Given the description of an element on the screen output the (x, y) to click on. 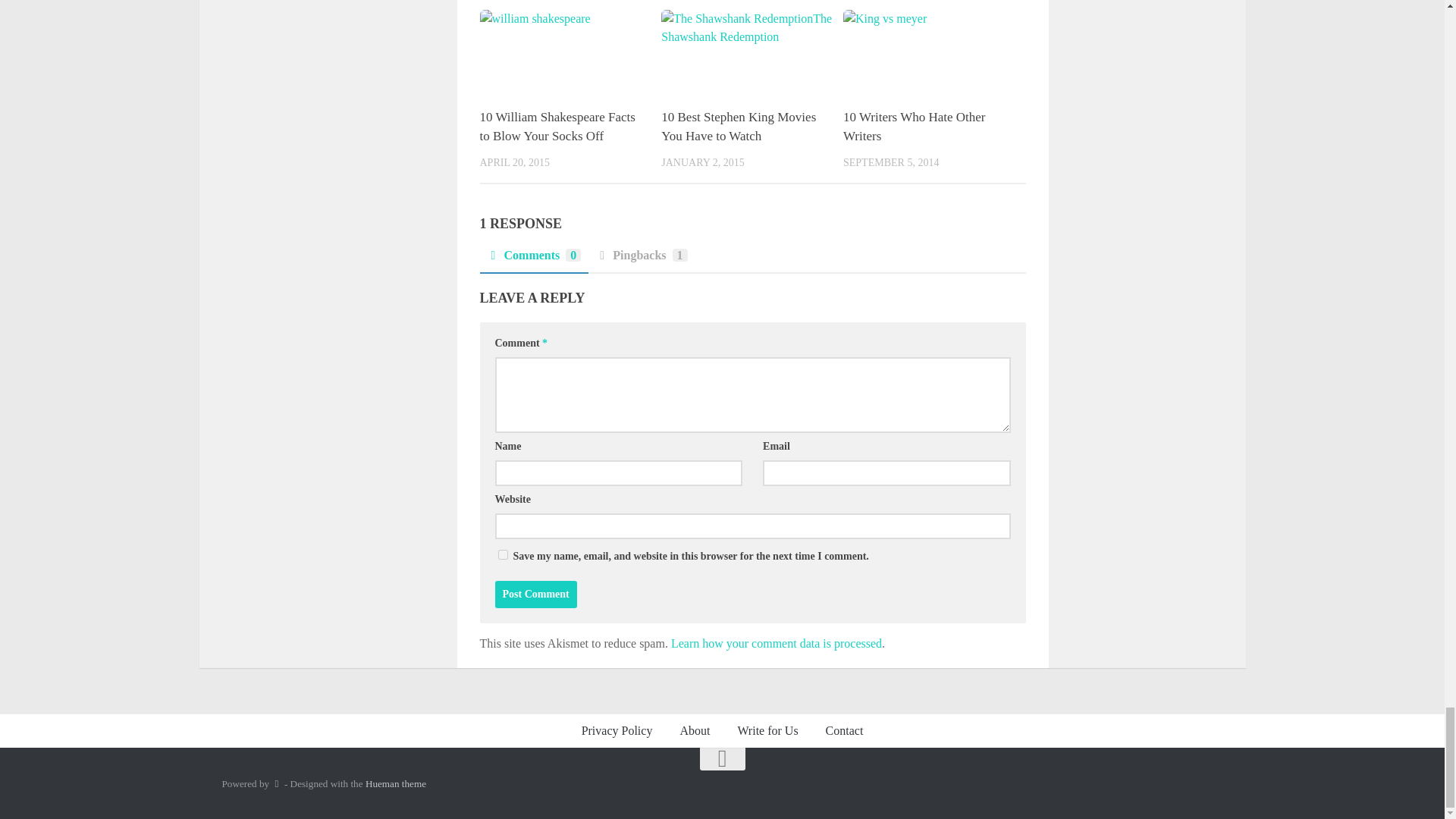
Hueman theme (395, 783)
yes (501, 554)
Post Comment (535, 594)
Facebook (1184, 784)
Powered by WordPress (275, 783)
